Given the description of an element on the screen output the (x, y) to click on. 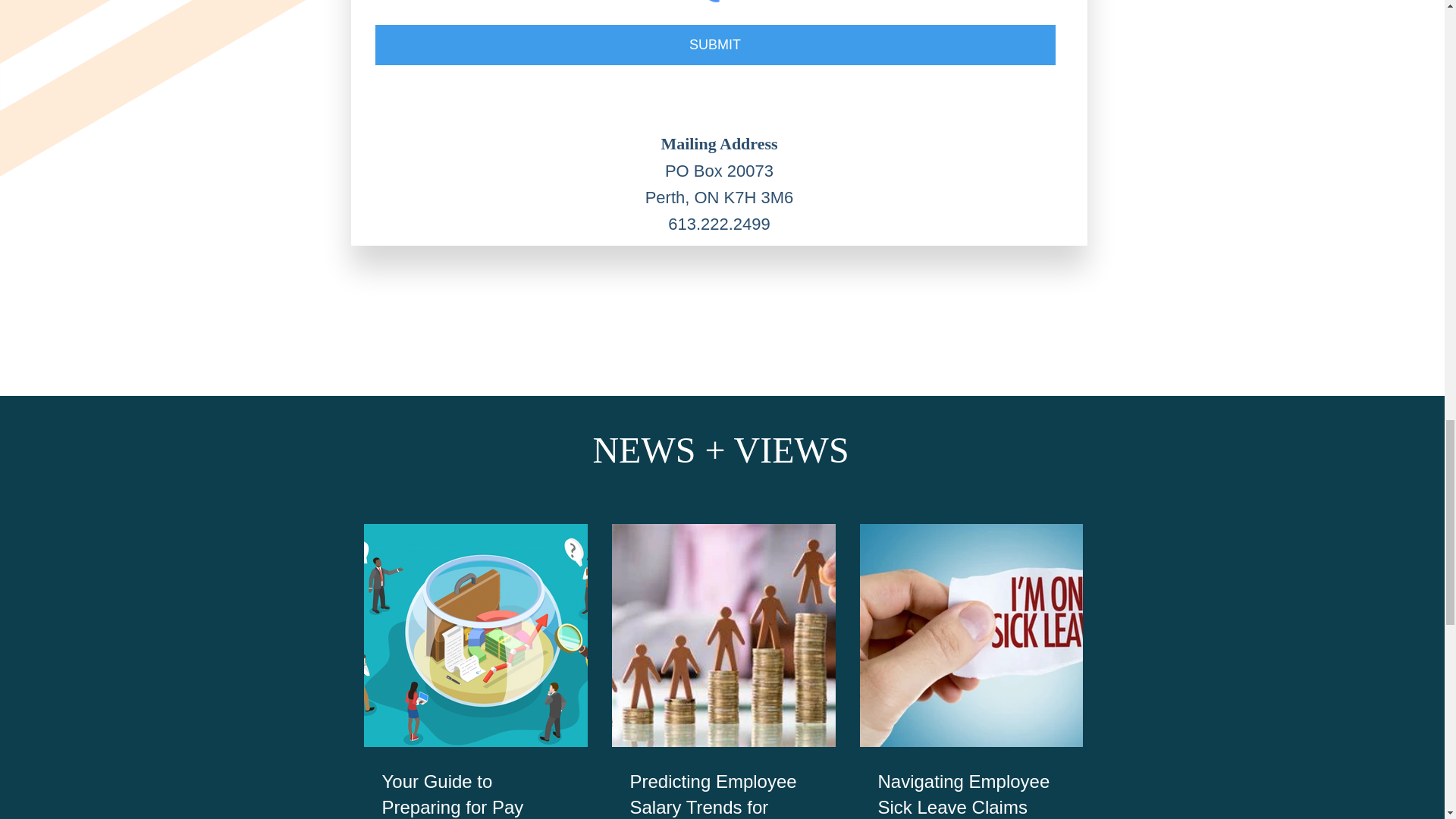
Navigating Employee Sick Leave Claims (970, 794)
SUBMIT (714, 45)
Predicting Employee Salary Trends for 2024: What to Expect (722, 794)
